Given the description of an element on the screen output the (x, y) to click on. 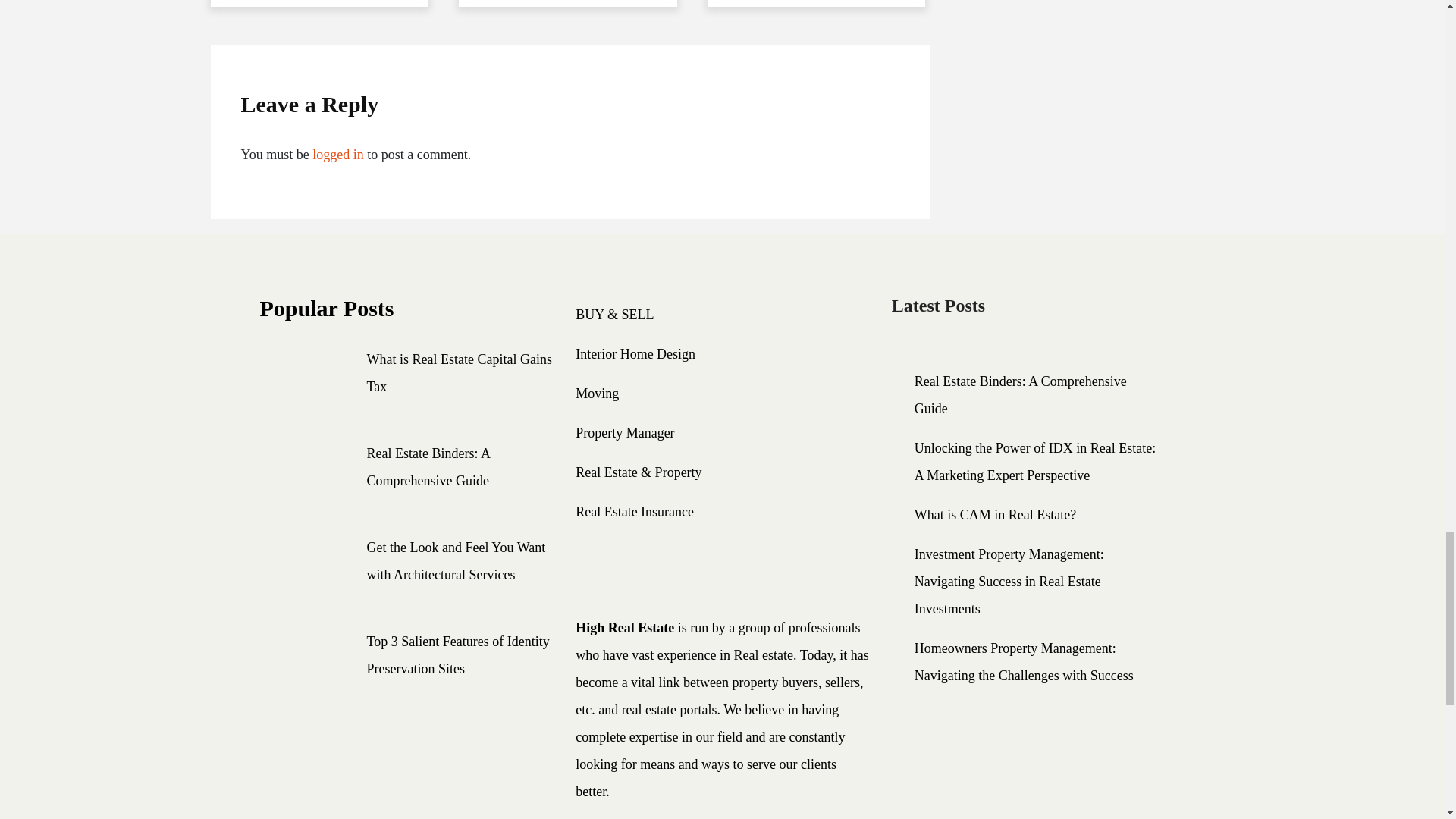
logged in (338, 154)
